Given the description of an element on the screen output the (x, y) to click on. 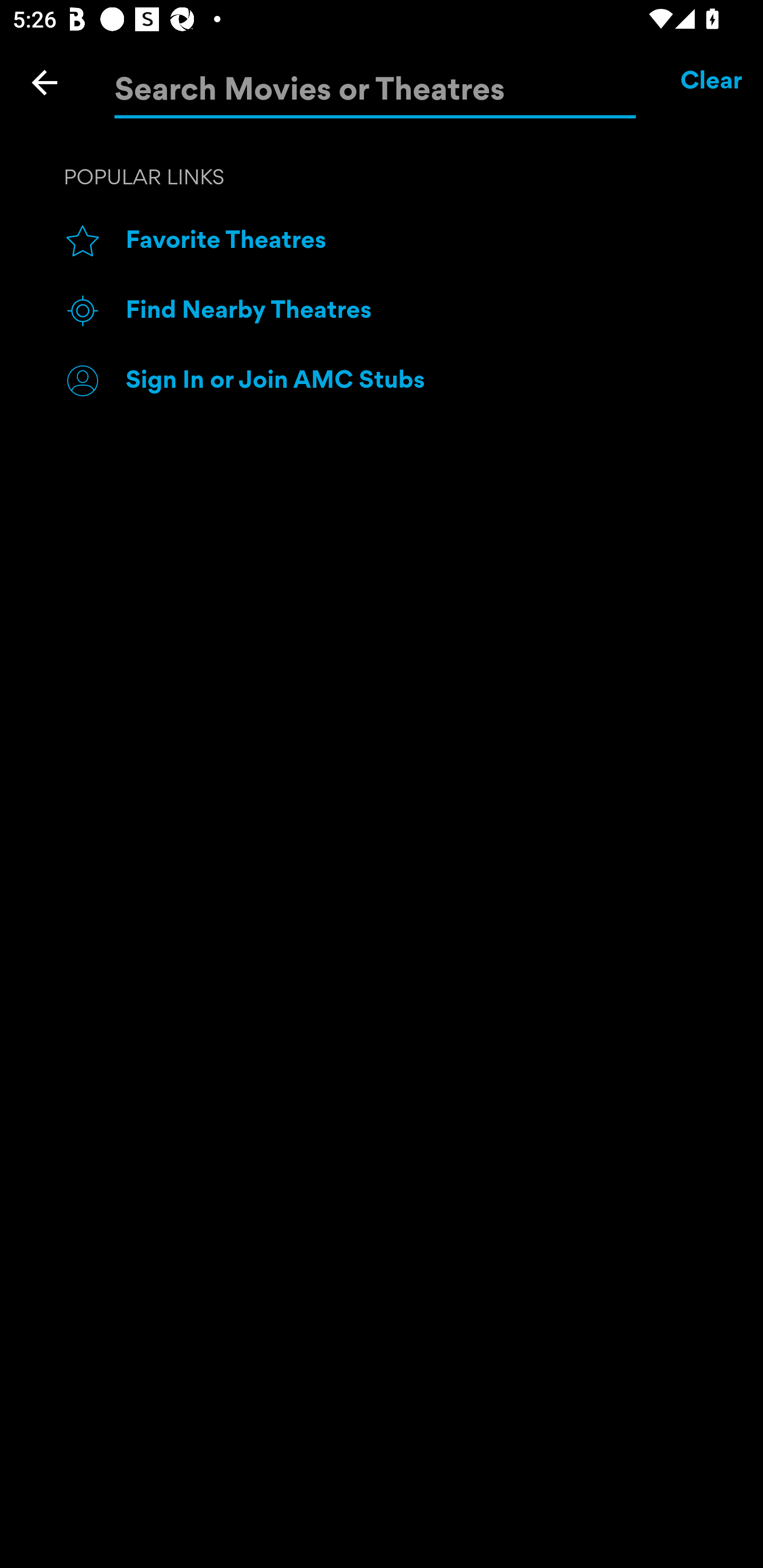
Back (44, 82)
Clear (712, 82)
Favorite Theatres (413, 241)
Find Nearby Theatres (413, 310)
Sign In or Join AMC Stubs (413, 380)
